Given the description of an element on the screen output the (x, y) to click on. 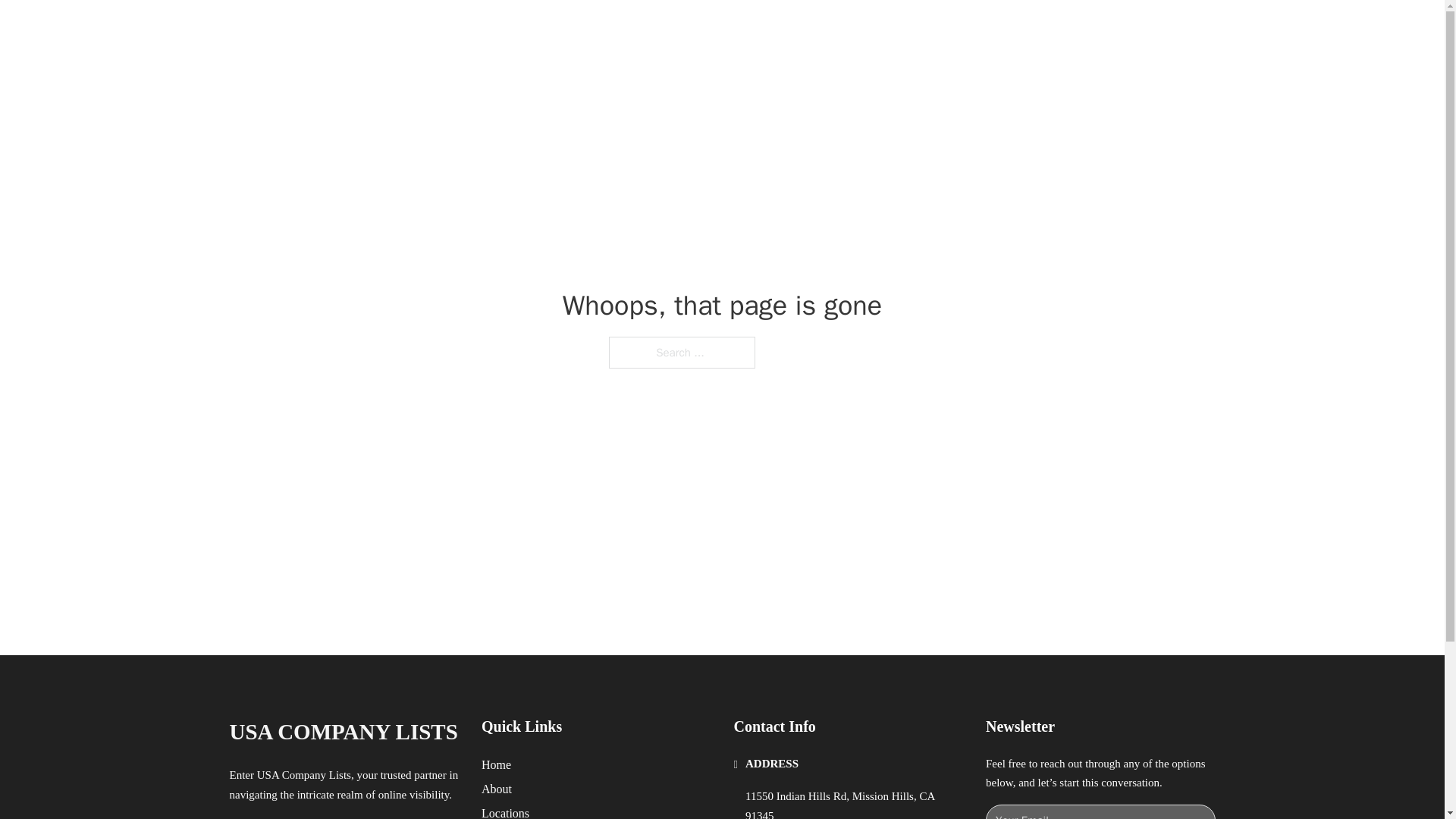
Home (496, 764)
Locations (505, 811)
About (496, 788)
USA COMPANY LISTS (416, 28)
USA COMPANY LISTS (342, 732)
HOME (919, 29)
LOCATIONS (990, 29)
